Given the description of an element on the screen output the (x, y) to click on. 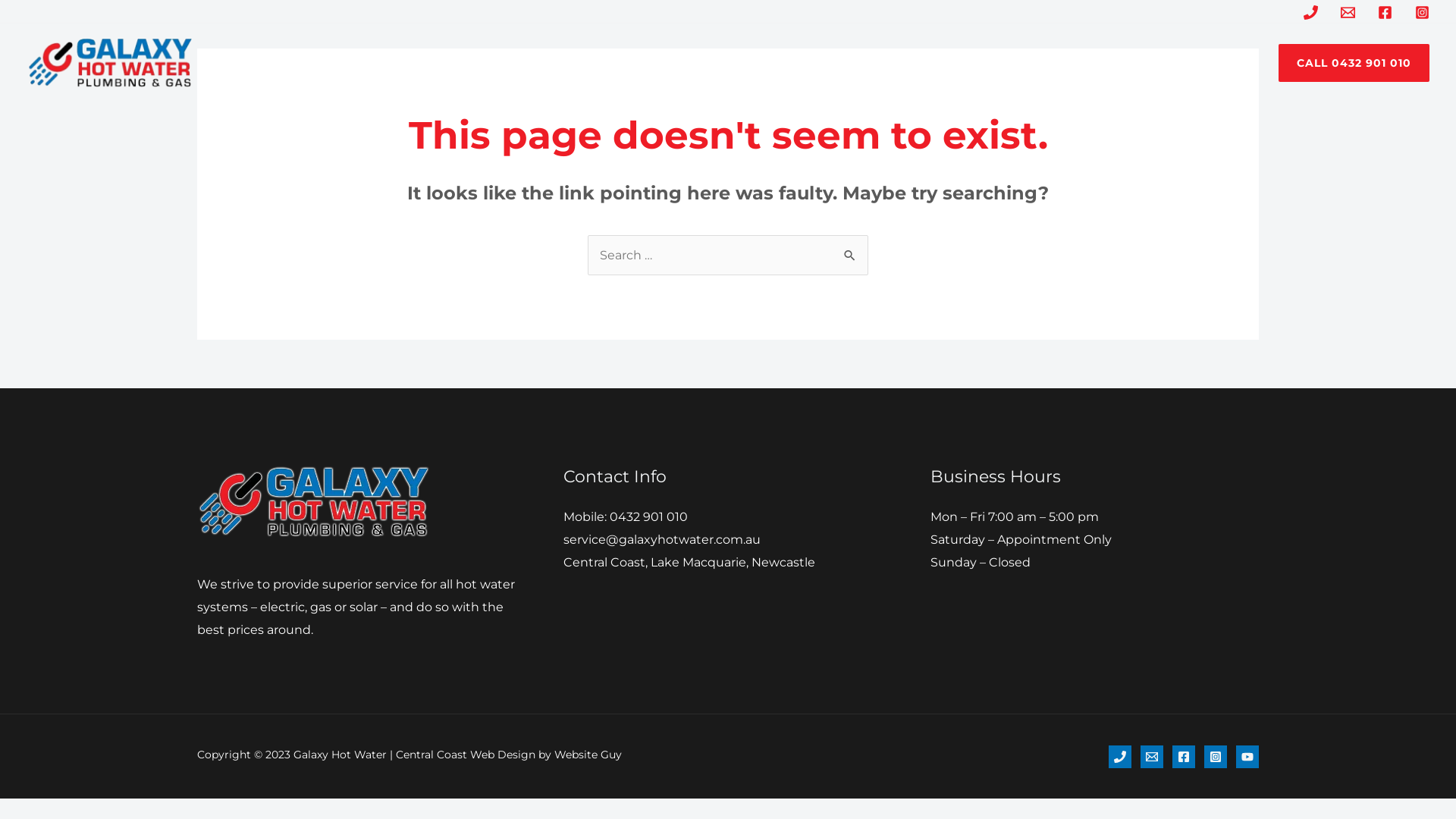
Contact Us Element type: text (902, 62)
CALL 0432 901 010 Element type: text (1353, 62)
Types of Water Heaters Element type: text (658, 62)
News Element type: text (826, 62)
FAQ Element type: text (773, 62)
Search Element type: text (851, 249)
Home Element type: text (537, 62)
Central Coast, Lake Macquarie, Newcastle Element type: text (689, 562)
Mobile: 0432 901 010 Element type: text (625, 516)
service@galaxyhotwater.com.au Element type: text (661, 539)
